Given the description of an element on the screen output the (x, y) to click on. 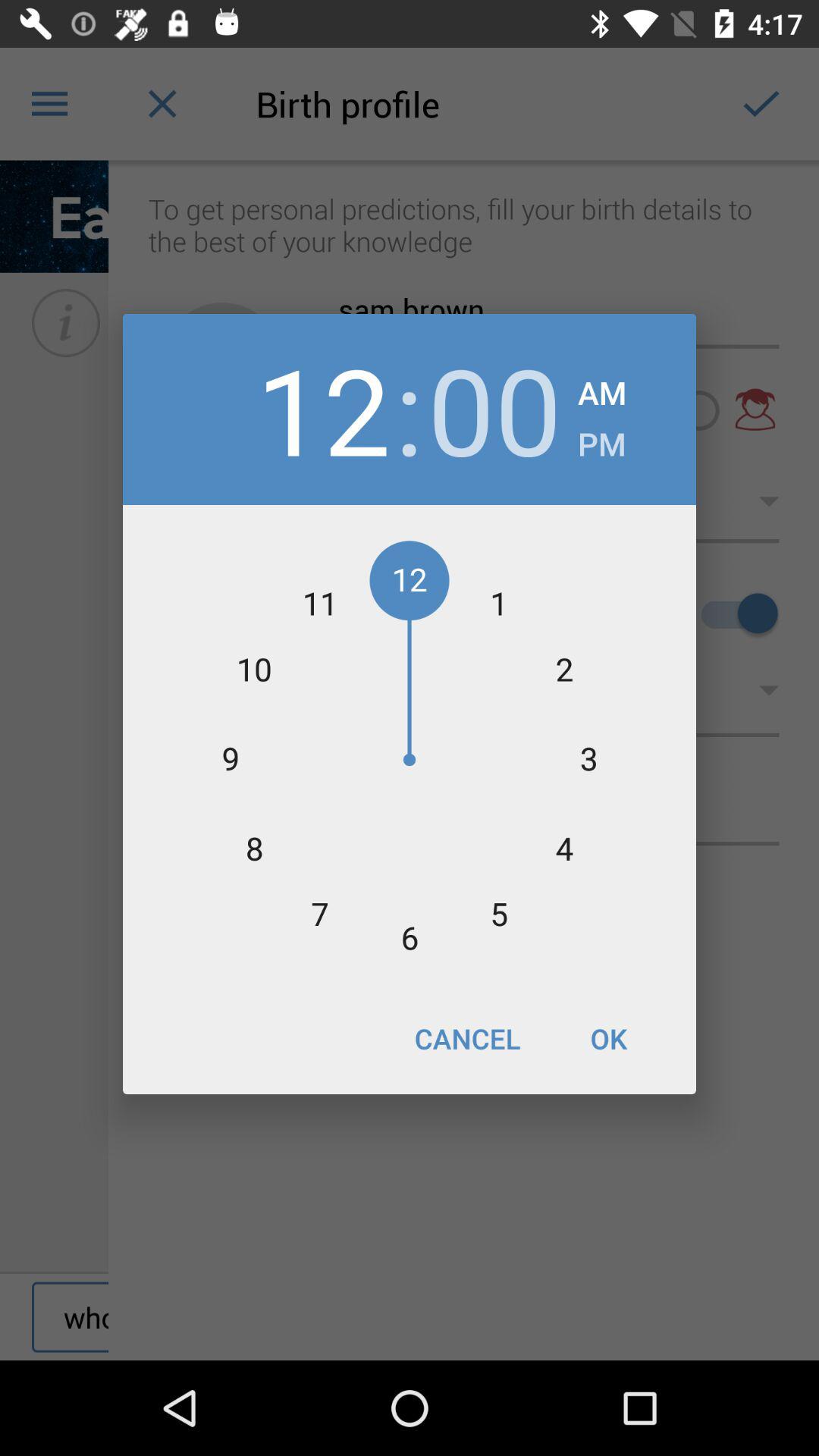
turn on icon to the right of the cancel (608, 1038)
